Given the description of an element on the screen output the (x, y) to click on. 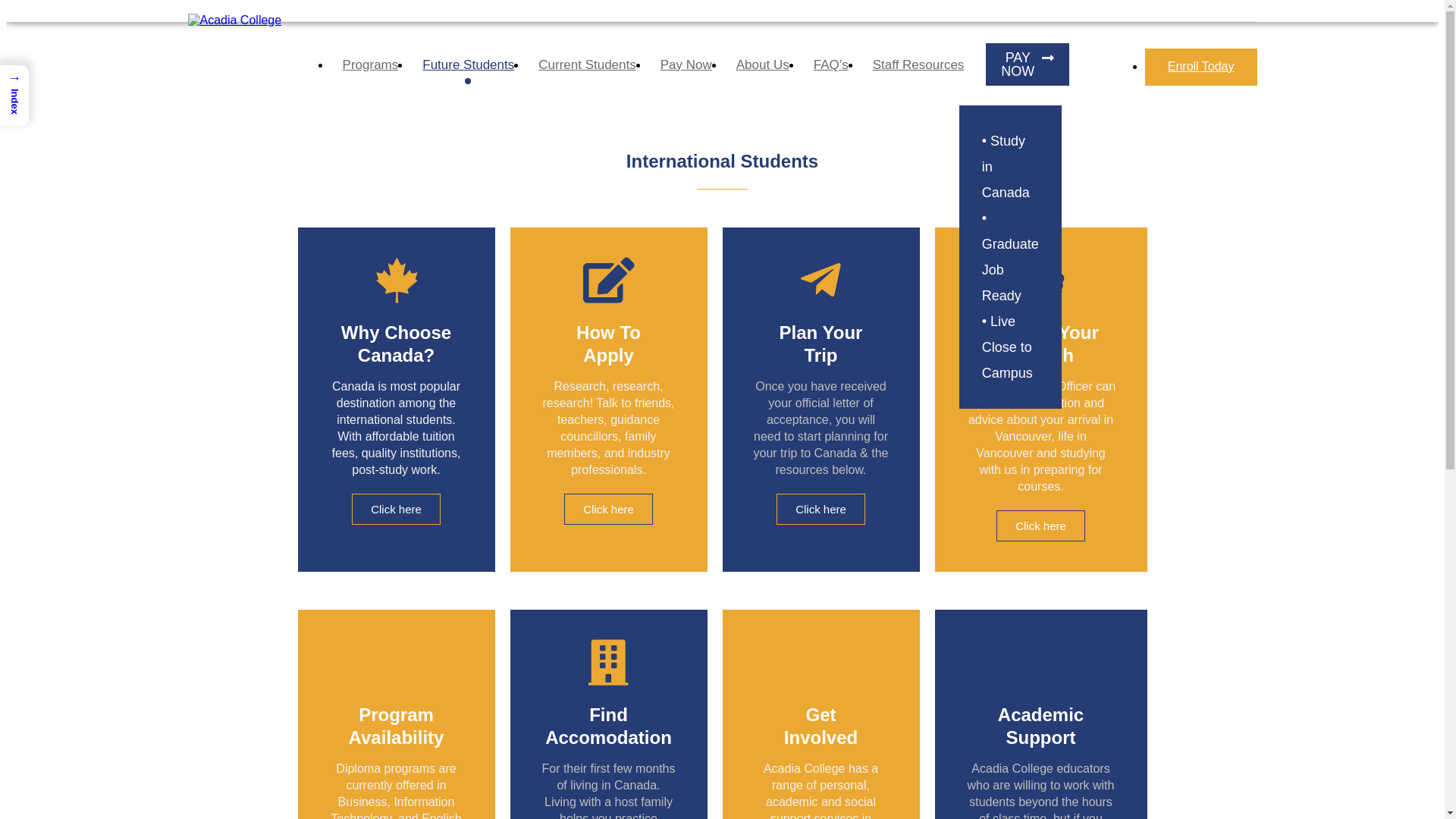
Programs Element type: text (370, 67)
stu-3 Element type: hover (1041, 52)
Pay Now Element type: text (686, 67)
Click here Element type: text (1040, 525)
Improve Your
English Element type: text (1040, 343)
PAY NOW Element type: text (1027, 63)
How To
Apply Element type: text (608, 343)
Get
Involved Element type: text (820, 725)
Future Students Element type: text (468, 67)
Click here Element type: text (820, 508)
Plan Your
Trip Element type: text (820, 343)
Why Choose
Canada? Element type: text (396, 343)
Staff Resources Element type: text (918, 67)
About Us Element type: text (762, 67)
Program
Availability Element type: text (396, 725)
Click here Element type: text (608, 508)
Enroll Today Element type: text (1201, 66)
Acadia College Element type: hover (235, 19)
Academic
Support Element type: text (1040, 725)
Find
Accomodation Element type: text (608, 725)
Current Students Element type: text (587, 67)
Click here Element type: text (395, 508)
